Given the description of an element on the screen output the (x, y) to click on. 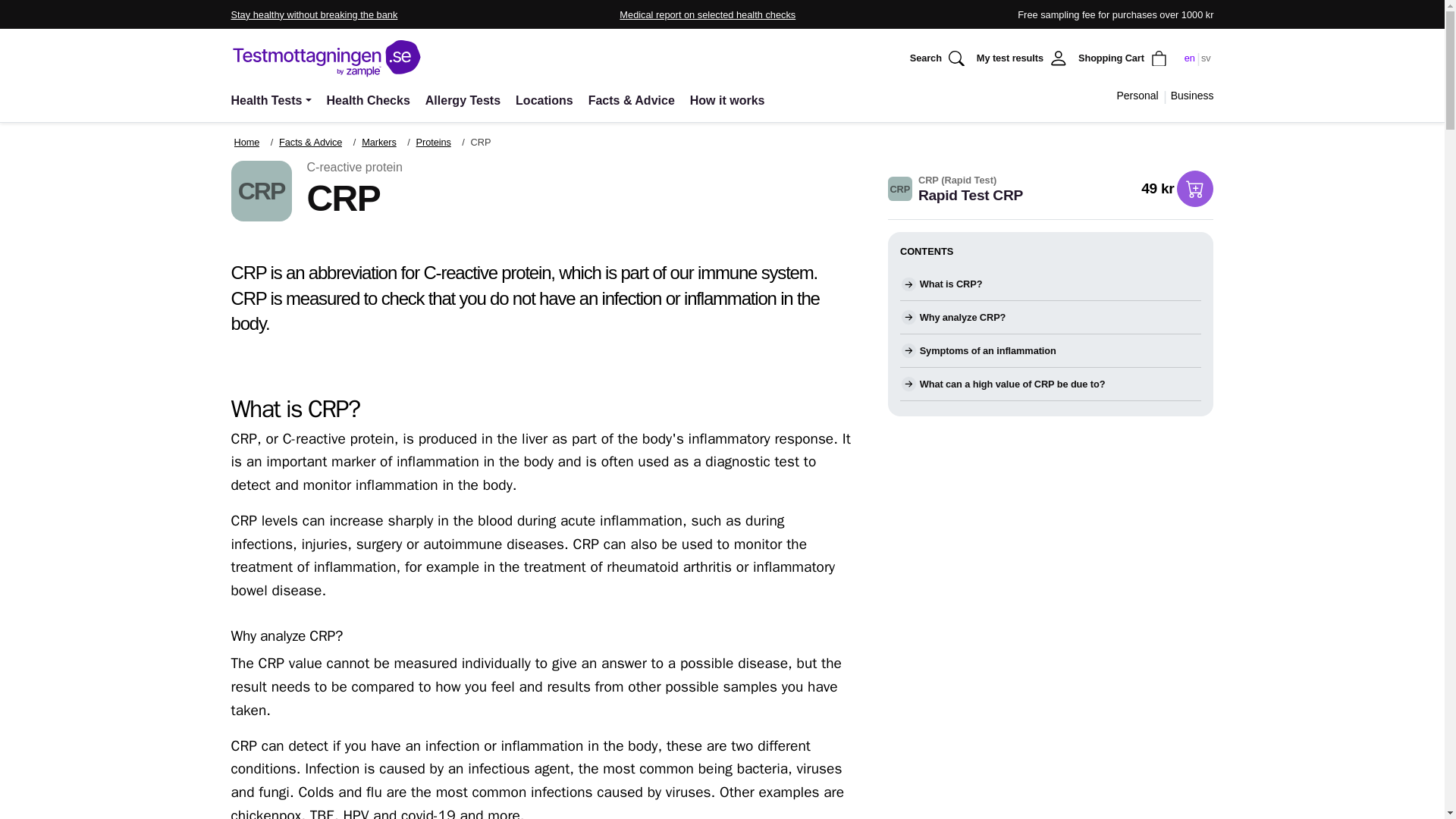
My test results (1023, 57)
Health Tests (273, 100)
Search (938, 57)
Medical report on selected health checks (707, 14)
Health Checks (368, 100)
Personal (1136, 95)
Allergy Tests (462, 100)
How it works (727, 100)
Locations (544, 100)
Shopping Cart (1124, 57)
